Given the description of an element on the screen output the (x, y) to click on. 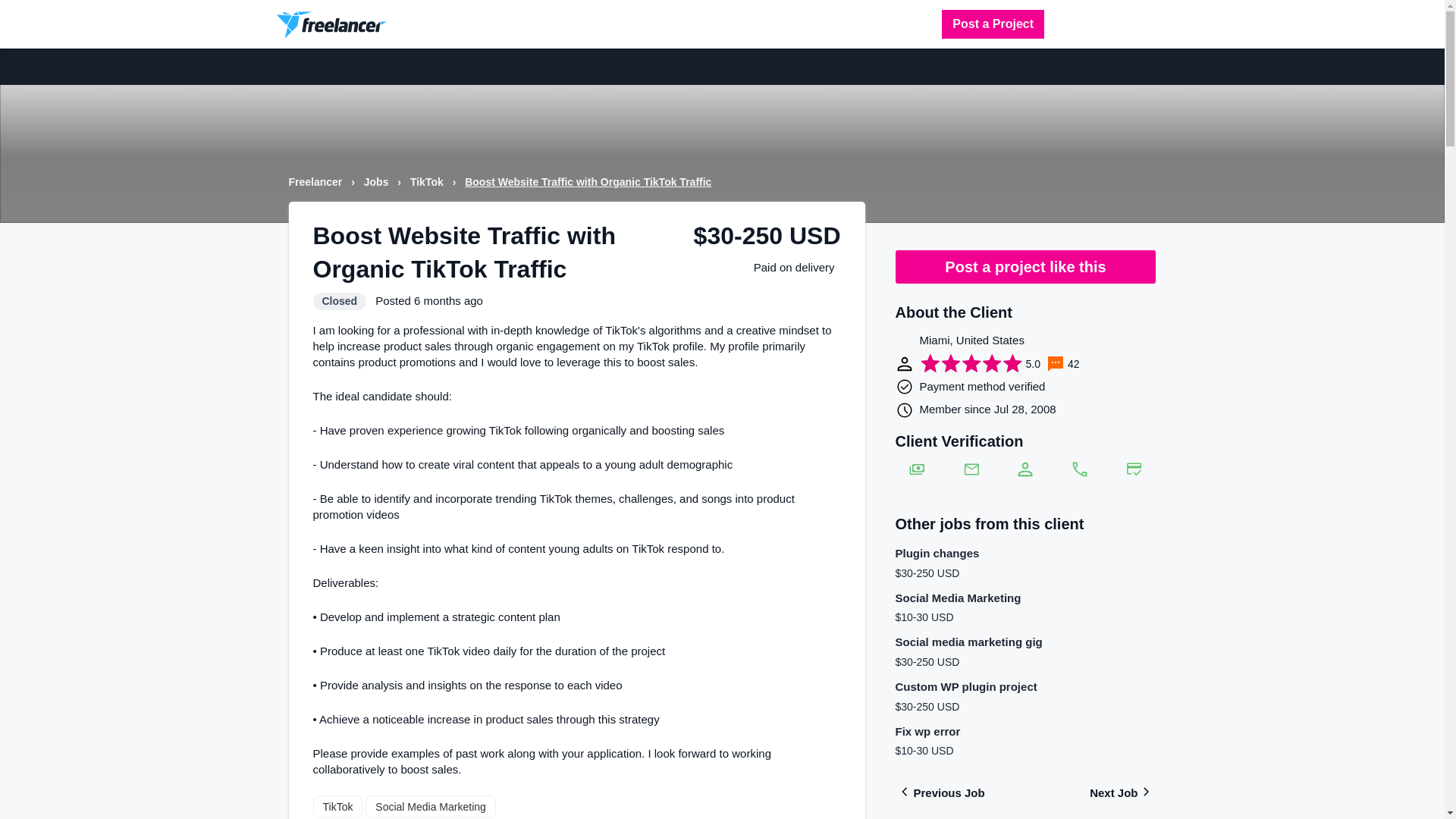
TikTok (337, 806)
Post a Project (992, 23)
Social Media Marketing (430, 806)
Freelancer (316, 182)
TikTok (428, 182)
Jobs (377, 182)
